Given the description of an element on the screen output the (x, y) to click on. 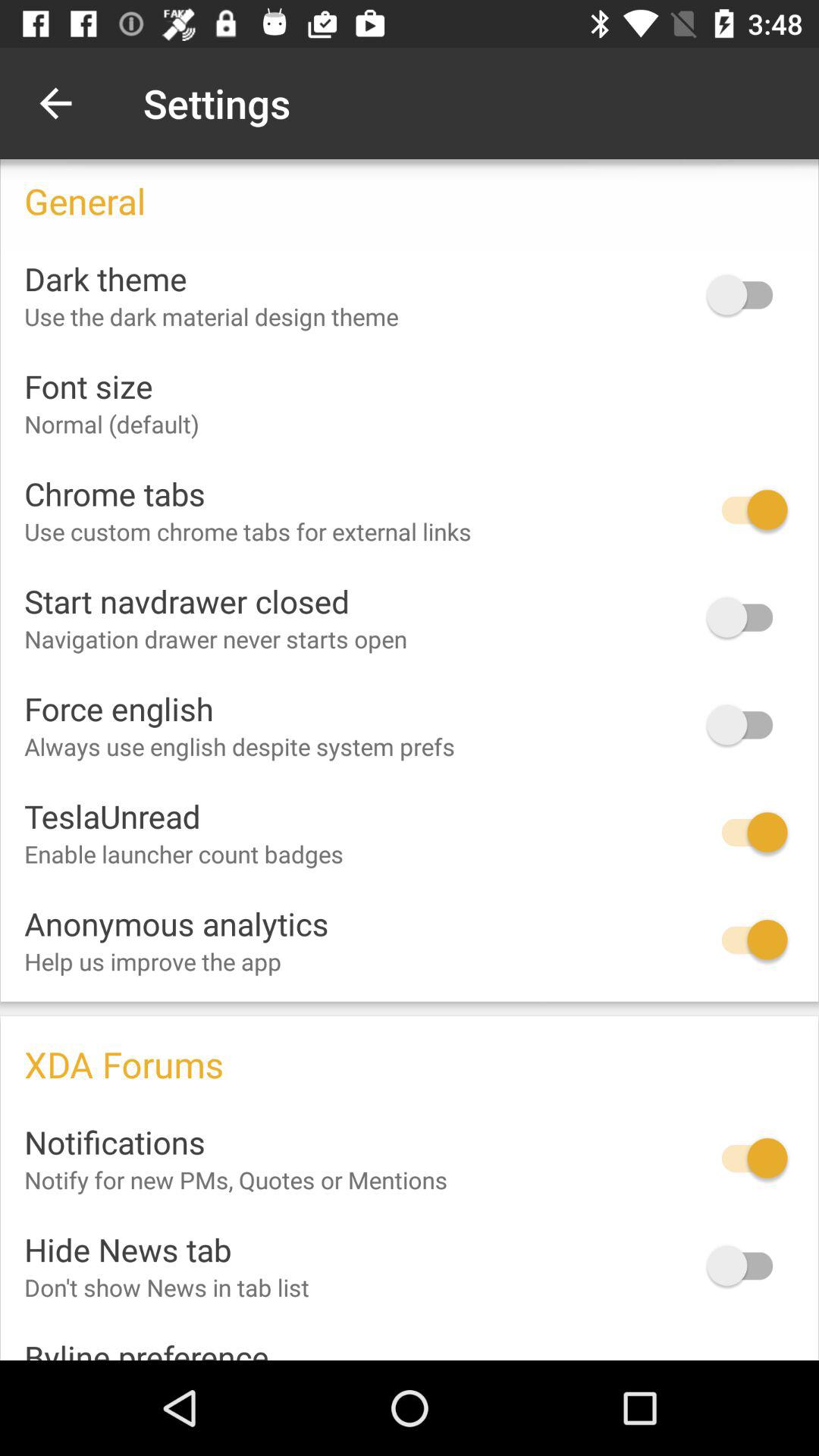
switch the notification option (747, 1158)
